Given the description of an element on the screen output the (x, y) to click on. 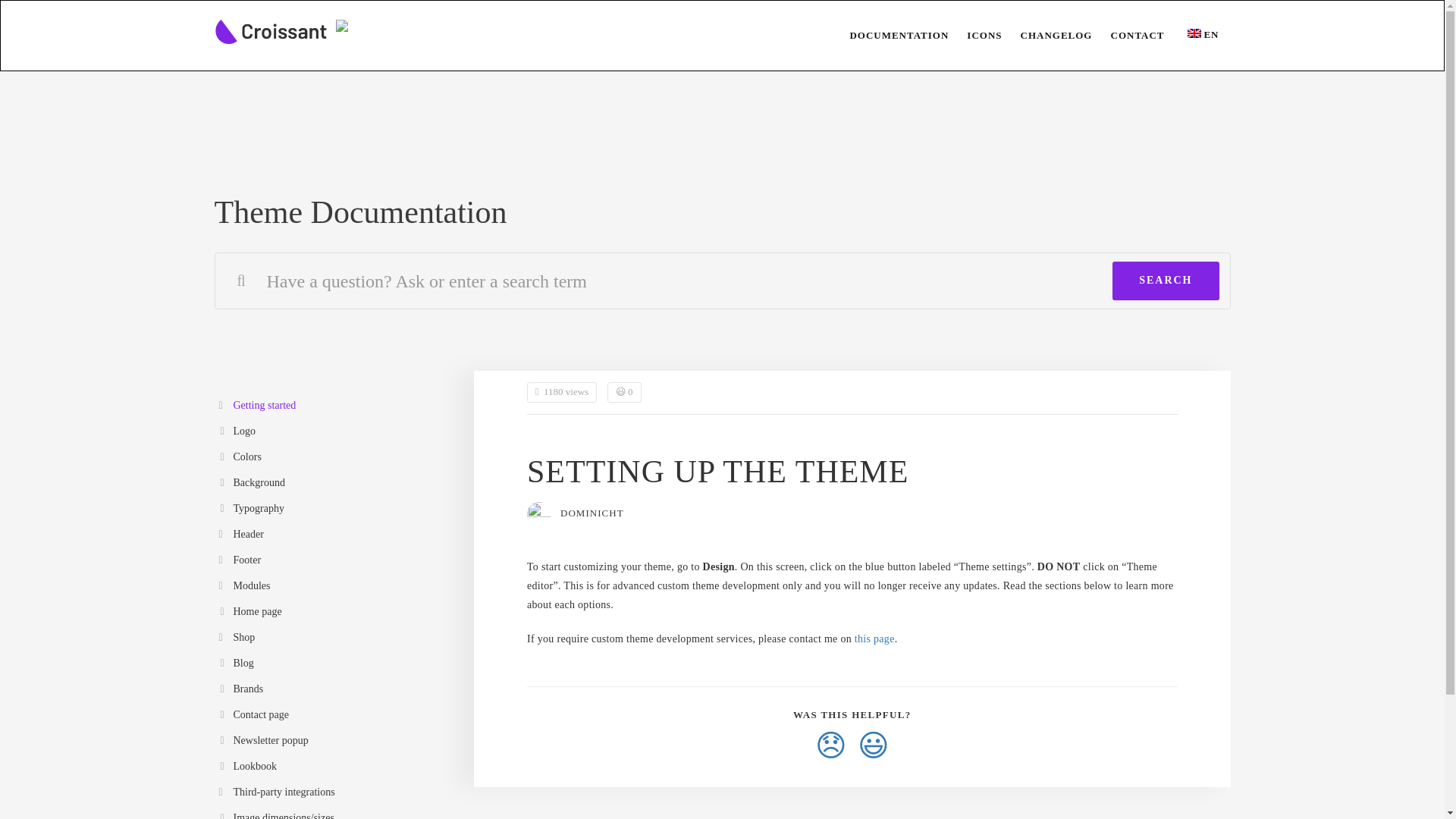
CONTACT (1127, 35)
Search (1165, 280)
En (1203, 34)
Background (332, 483)
EN (1203, 34)
DOCUMENTATION (890, 35)
Footer (332, 560)
Search (1165, 280)
Logo (332, 432)
